Given the description of an element on the screen output the (x, y) to click on. 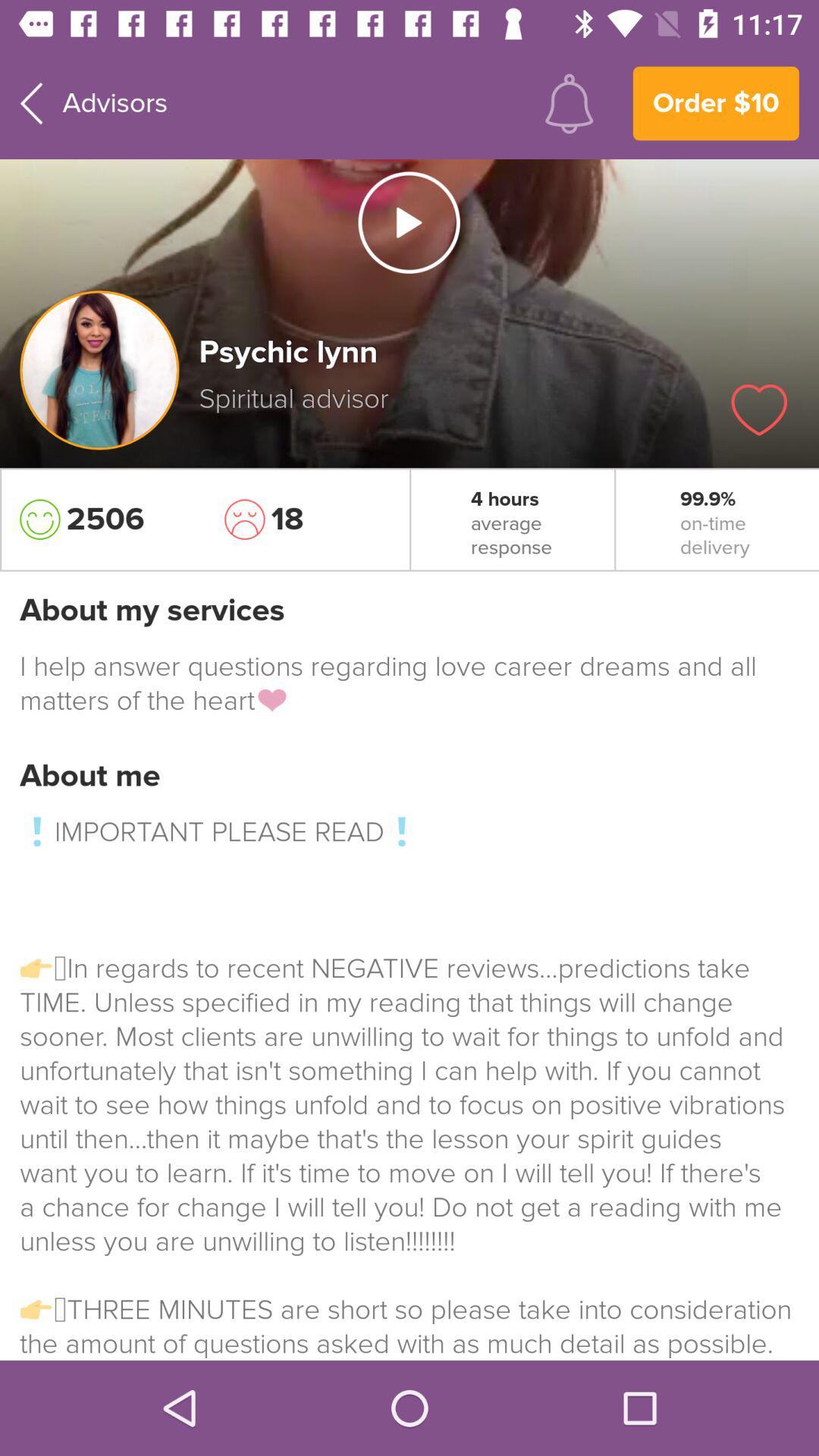
play video (409, 222)
